Given the description of an element on the screen output the (x, y) to click on. 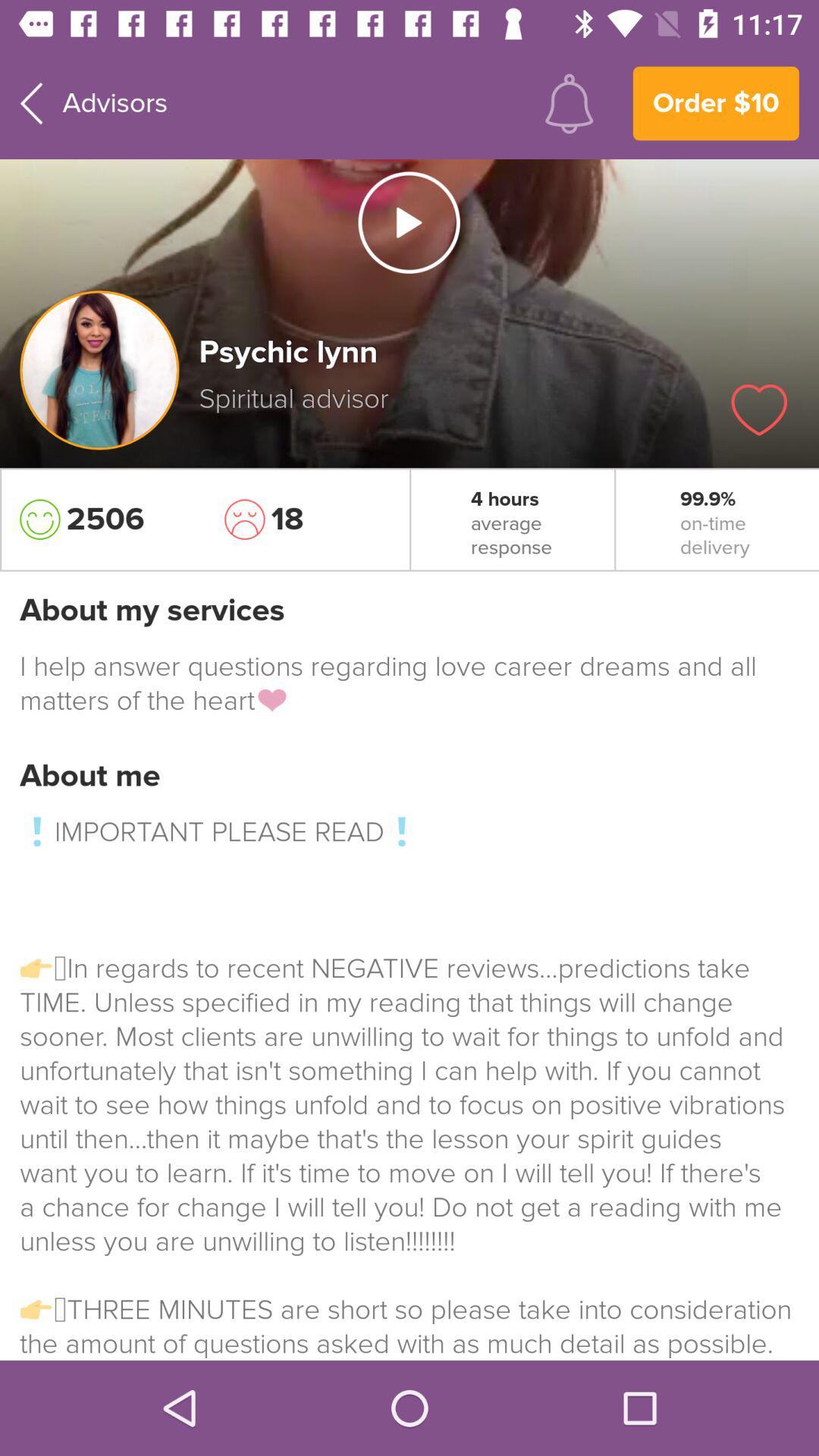
play video (409, 222)
